Given the description of an element on the screen output the (x, y) to click on. 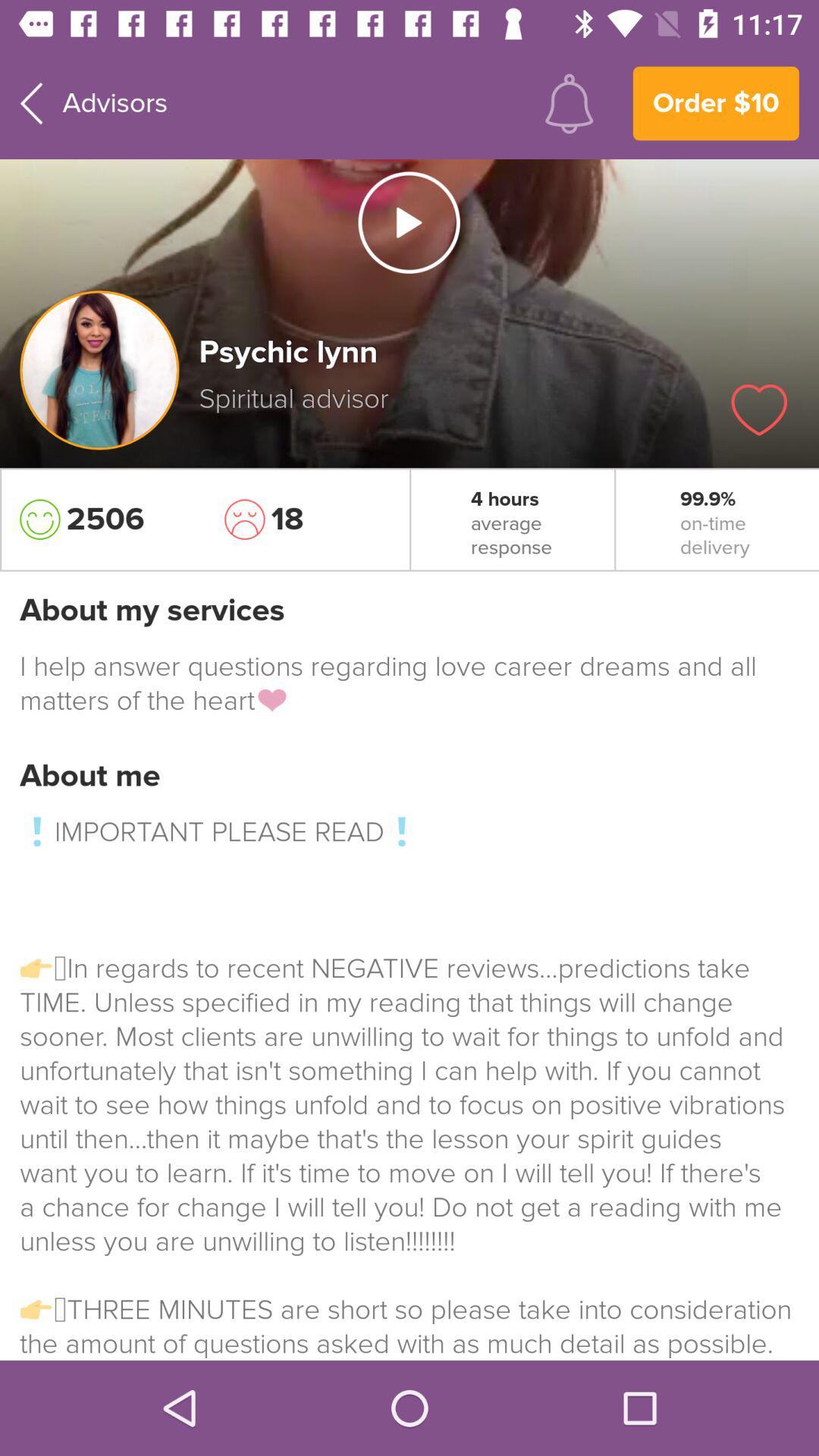
play video (409, 222)
